Given the description of an element on the screen output the (x, y) to click on. 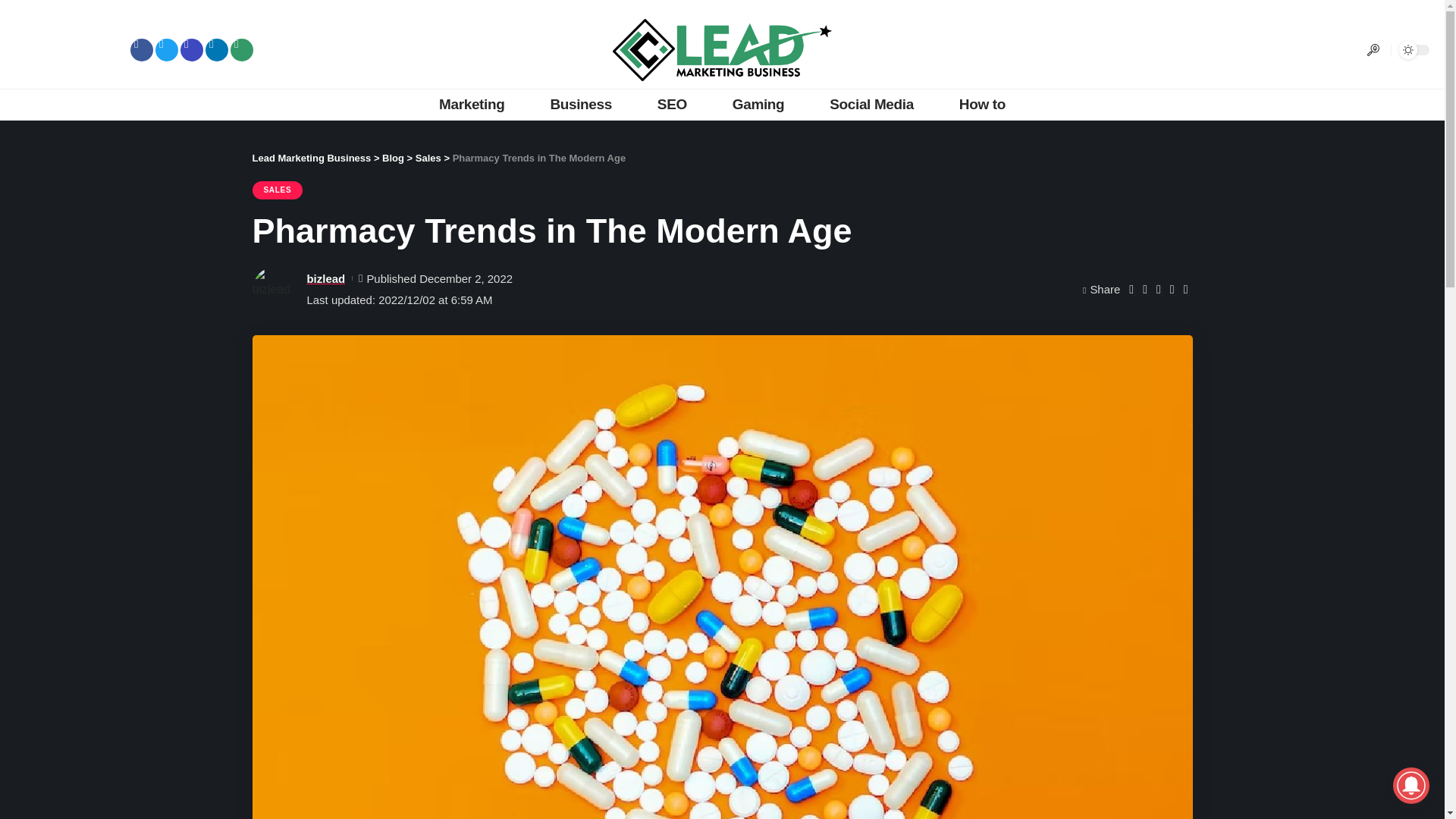
Go to Lead Marketing Business. (311, 157)
Business (580, 104)
Social Media (871, 104)
How to (981, 104)
SALES (276, 189)
Go to the Sales Category archives. (427, 157)
Go to Blog. (392, 157)
Blog (392, 157)
Lead Marketing Business (311, 157)
Sales (427, 157)
Gaming (758, 104)
SEO (672, 104)
Marketing (471, 104)
